Given the description of an element on the screen output the (x, y) to click on. 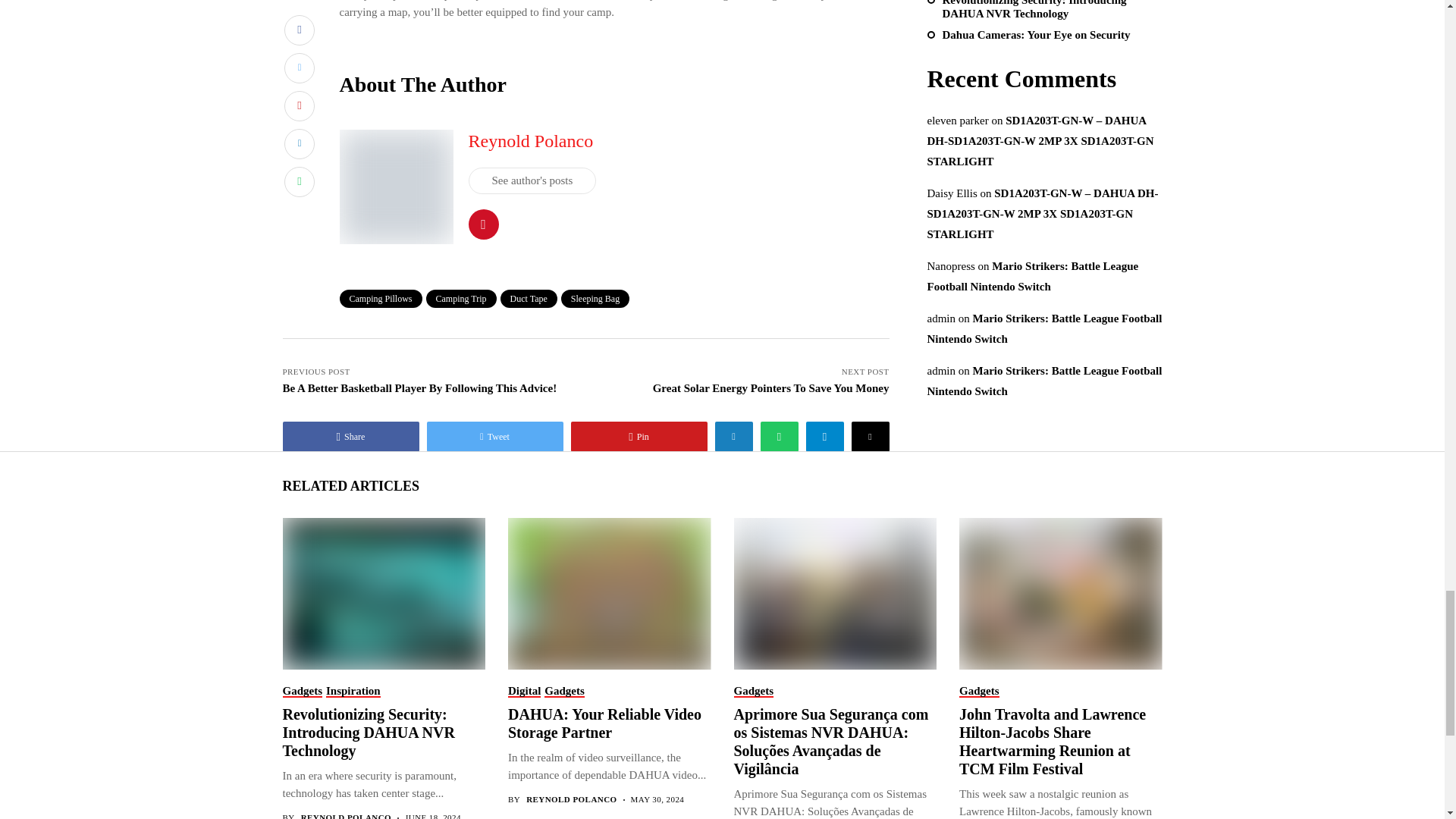
Posts by Reynold Polanco (570, 799)
Posts by Reynold Polanco (346, 816)
DAHUA: Your Reliable Video Storage Partner (608, 592)
Revolutionizing Security: Introducing DAHUA NVR Technology (382, 592)
